Given the description of an element on the screen output the (x, y) to click on. 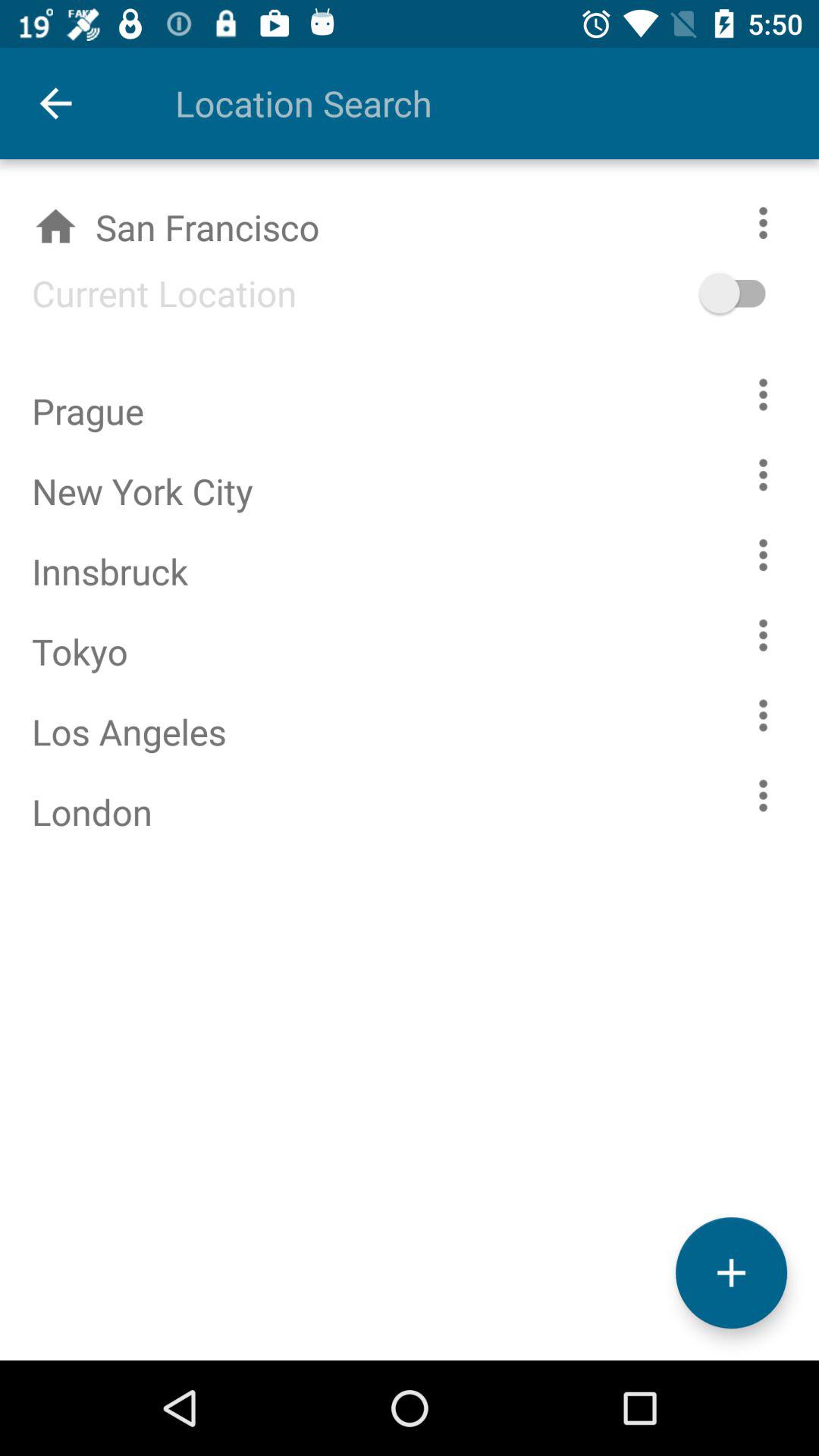
find more options for the los angeles option (763, 715)
